Given the description of an element on the screen output the (x, y) to click on. 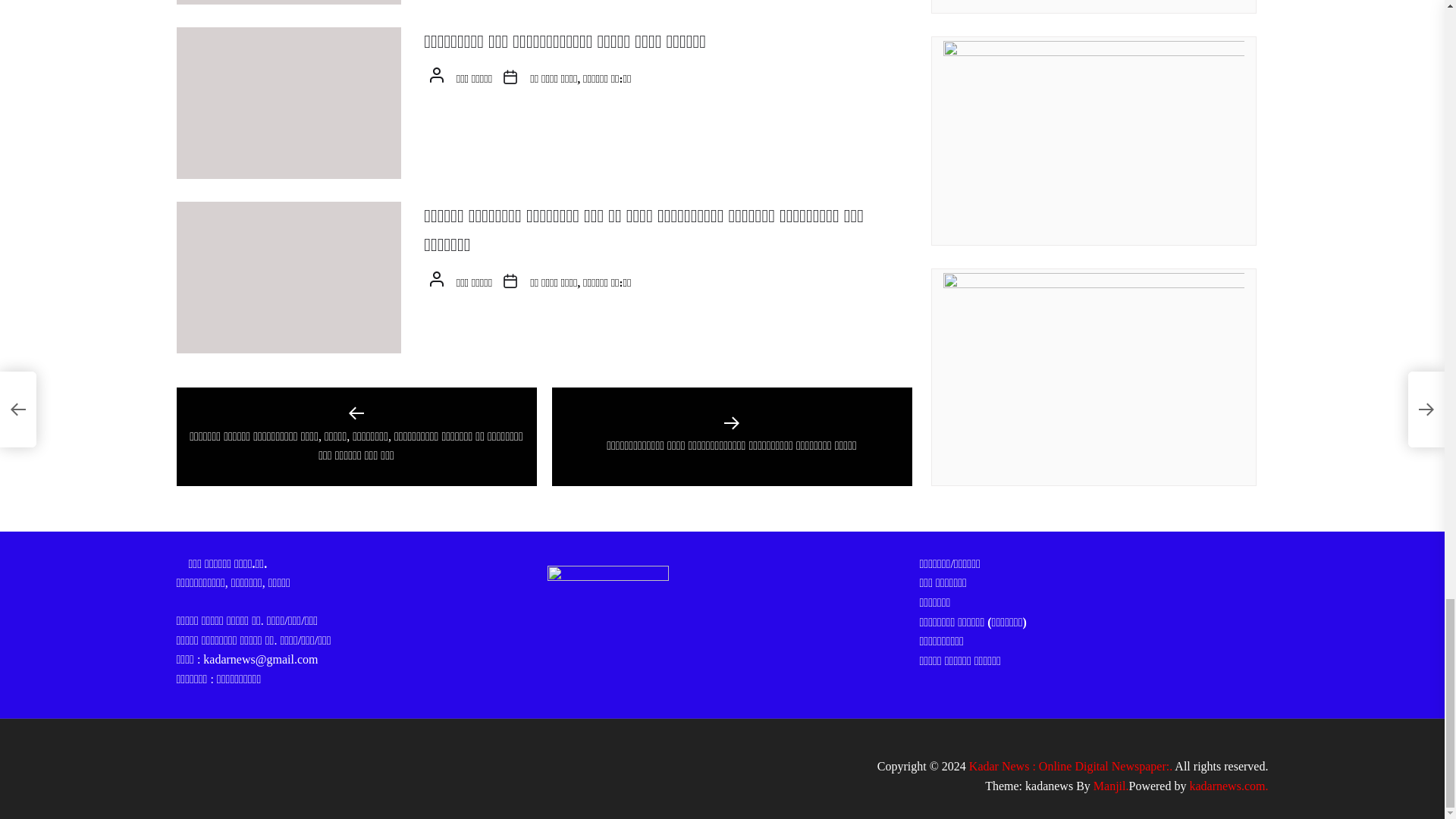
kadarnews.com (1228, 786)
Manjil (1111, 786)
Kadar News : Online Digital Newspaper: (1070, 766)
